Given the description of an element on the screen output the (x, y) to click on. 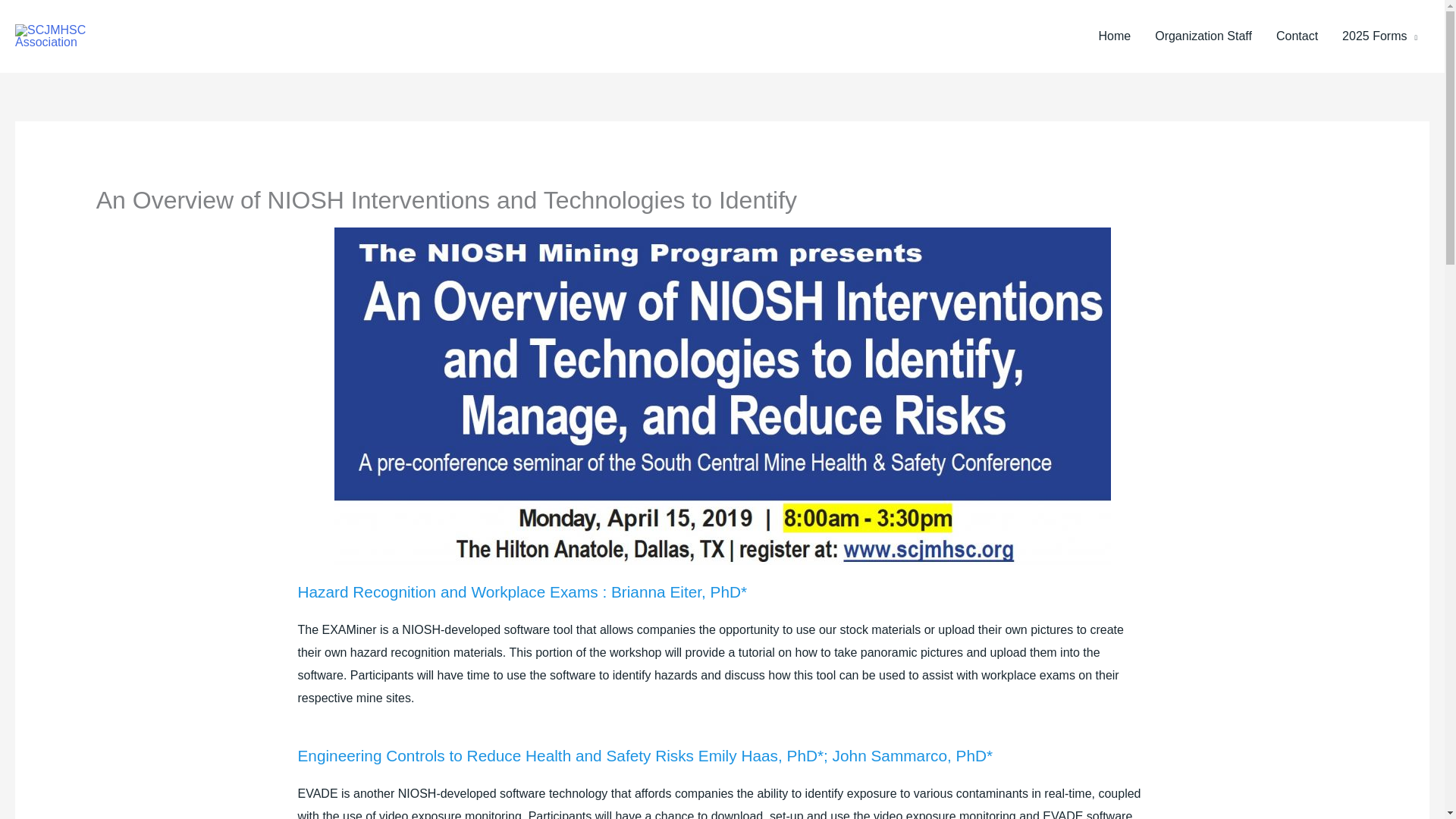
Contact (1296, 36)
Home (1114, 36)
2025 Forms (1379, 36)
Organization Staff (1202, 36)
